Given the description of an element on the screen output the (x, y) to click on. 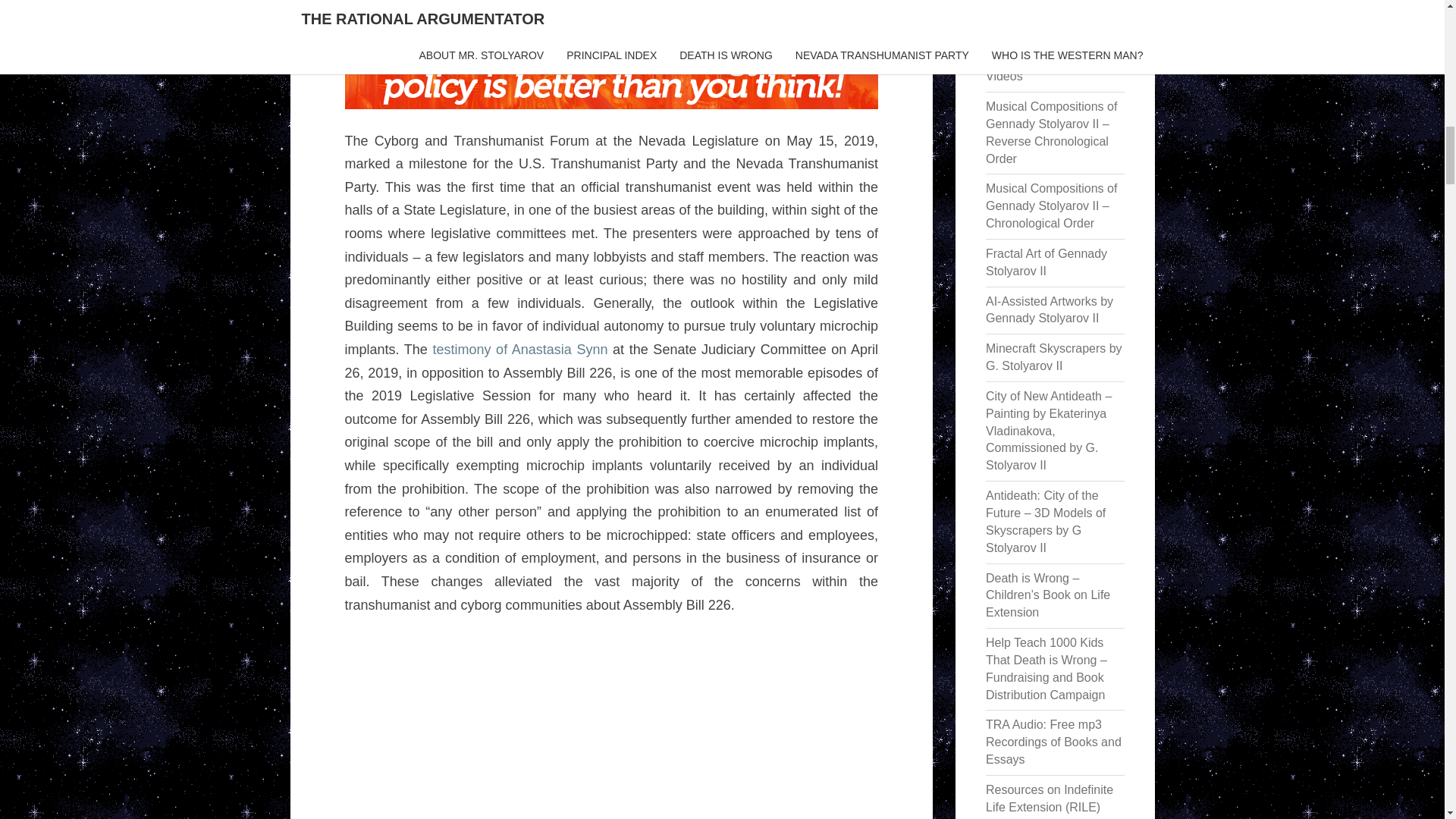
testimony of Anastasia Synn (519, 349)
